Given the description of an element on the screen output the (x, y) to click on. 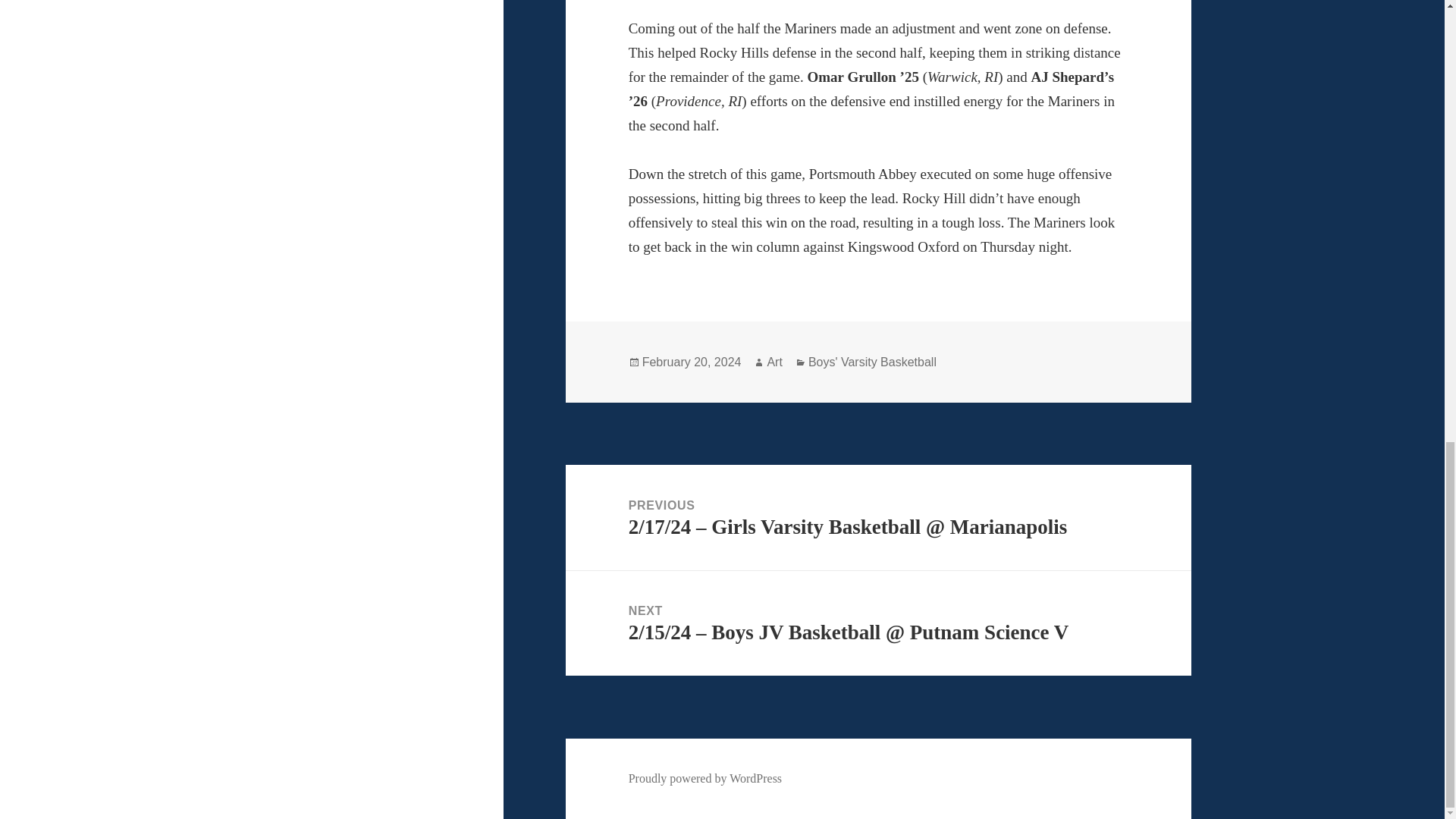
Art (774, 362)
Boys' Varsity Basketball (872, 362)
February 20, 2024 (691, 362)
Proudly powered by WordPress (704, 778)
